Given the description of an element on the screen output the (x, y) to click on. 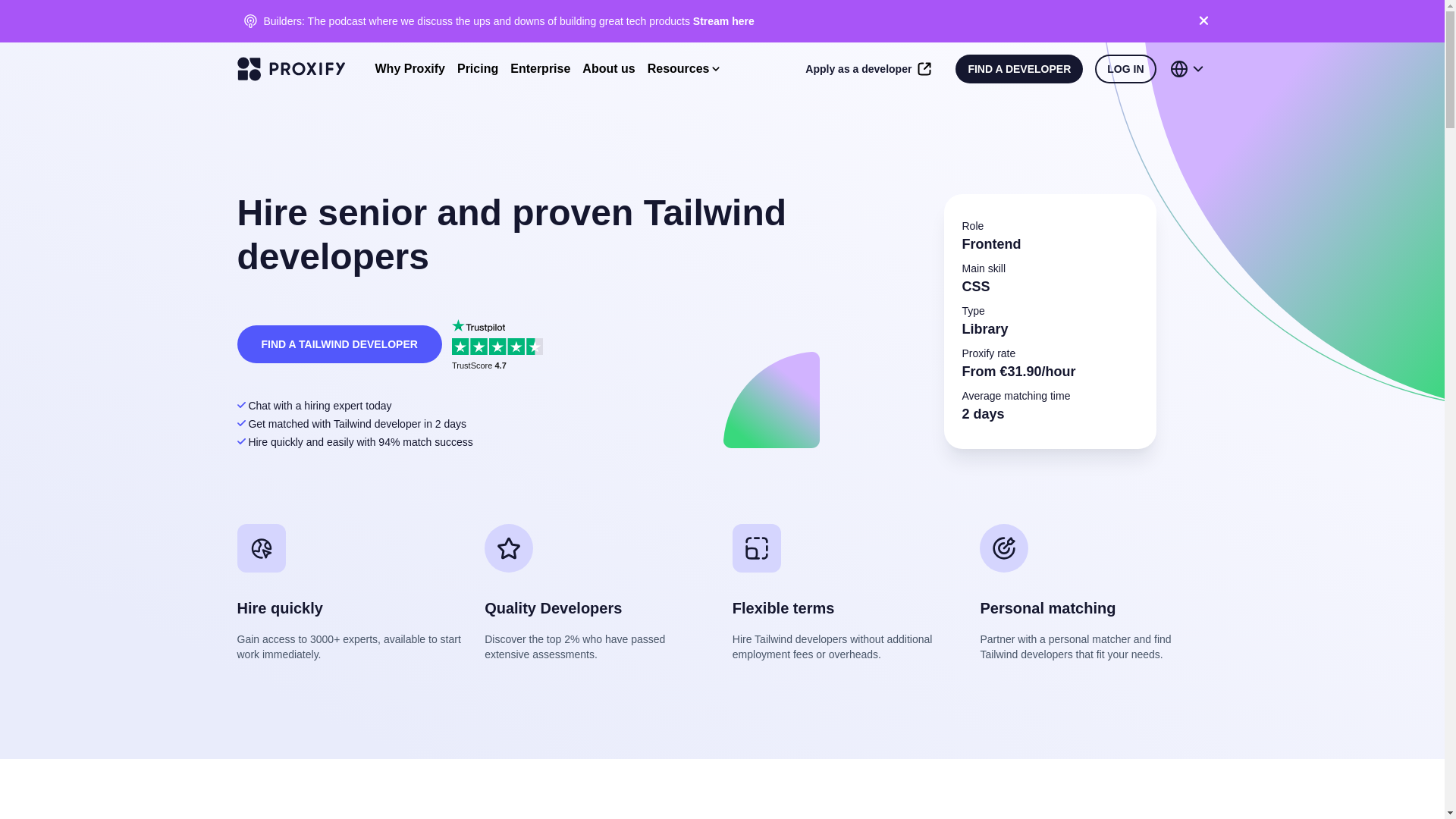
Pricing (477, 68)
LOG IN (1125, 68)
Apply as a developer (868, 68)
FIND A DEVELOPER (1019, 68)
About us (608, 68)
Customer reviews powered by Trustpilot (500, 343)
Why Proxify (409, 68)
FIND A TAILWIND DEVELOPER (338, 343)
Enterprise (540, 68)
Stream here (723, 21)
